Given the description of an element on the screen output the (x, y) to click on. 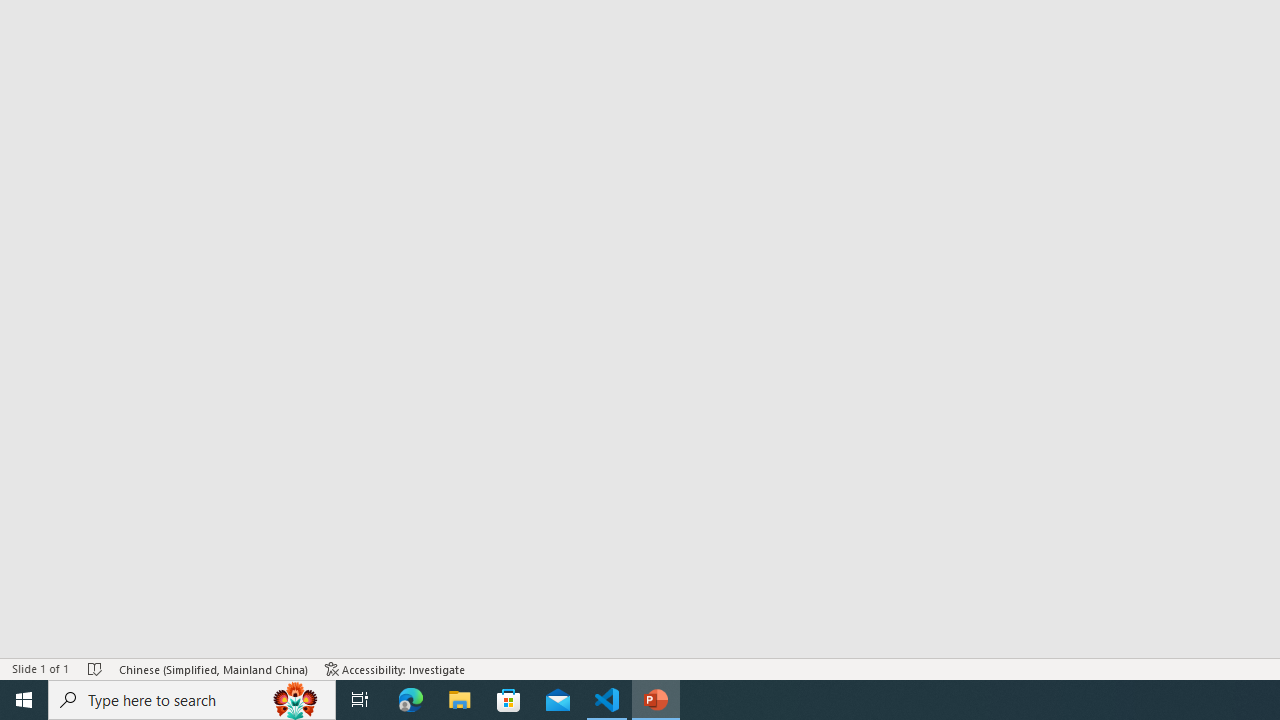
Spell Check No Errors (95, 668)
Accessibility Checker Accessibility: Investigate (395, 668)
